Given the description of an element on the screen output the (x, y) to click on. 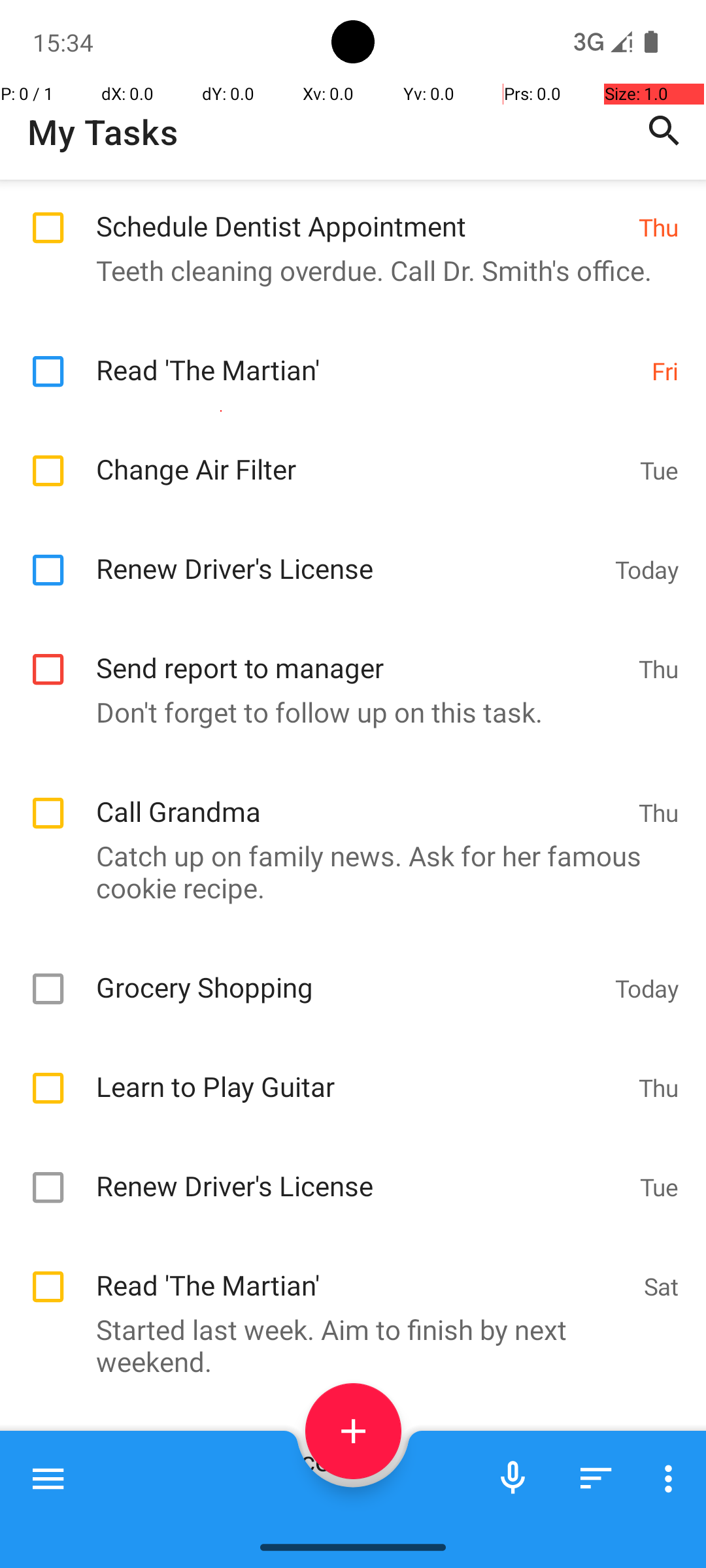
Schedule Dentist Appointment Element type: android.widget.TextView (360, 211)
Teeth cleaning overdue. Call Dr. Smith's office. Element type: android.widget.TextView (346, 269)
Read 'The Martian' Element type: android.widget.TextView (367, 355)
Change Air Filter Element type: android.widget.TextView (361, 454)
Renew Driver's License Element type: android.widget.TextView (348, 554)
Send report to manager Element type: android.widget.TextView (360, 653)
Don't forget to follow up on this task. Element type: android.widget.TextView (346, 711)
Call Grandma Element type: android.widget.TextView (360, 797)
Catch up on family news. Ask for her famous cookie recipe. Element type: android.widget.TextView (346, 871)
Learn to Play Guitar Element type: android.widget.TextView (360, 1072)
Started last week. Aim to finish by next weekend. Element type: android.widget.TextView (346, 1344)
Sat Element type: android.widget.TextView (661, 1285)
